Given the description of an element on the screen output the (x, y) to click on. 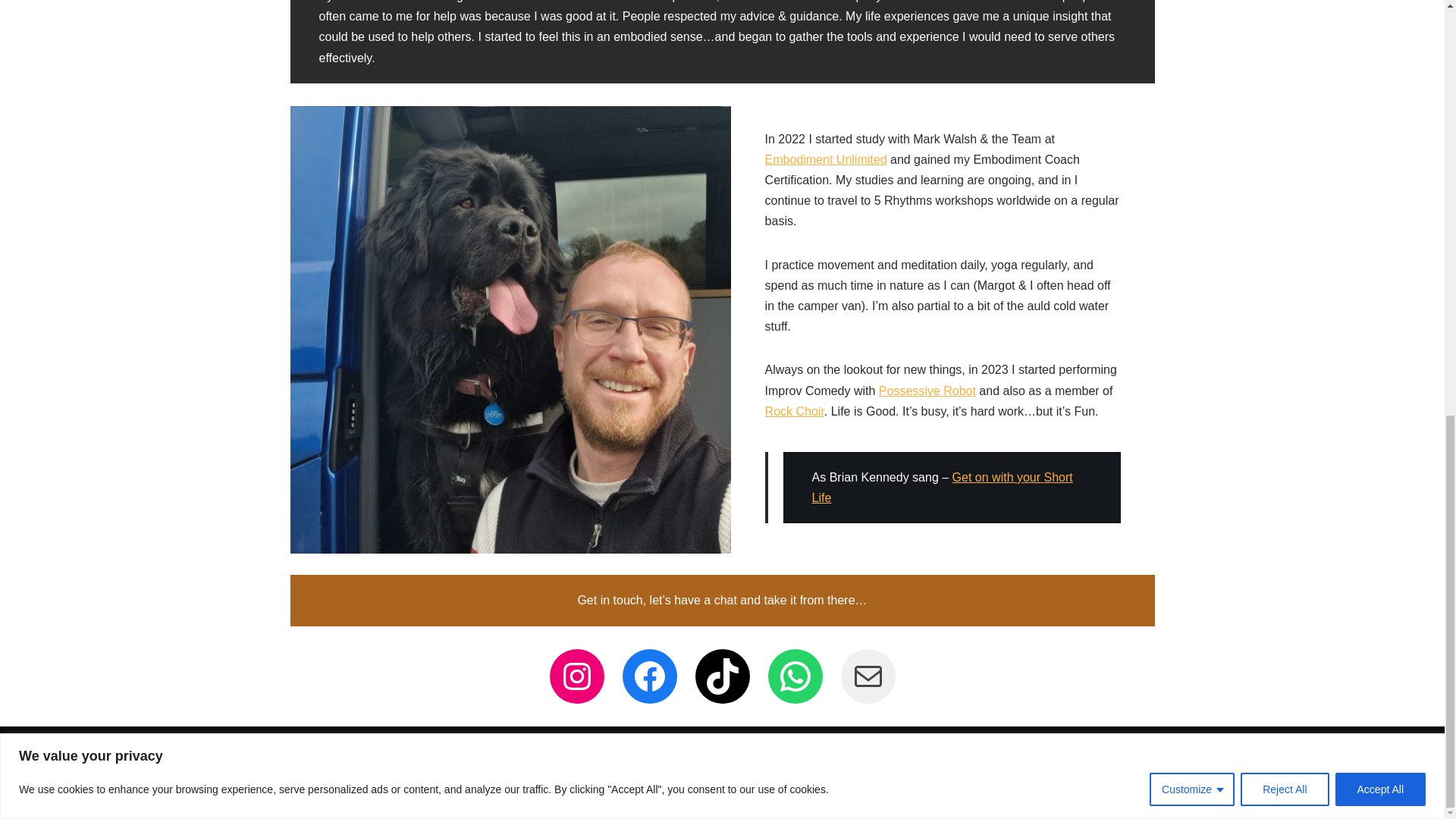
Get on with your Short Life (942, 487)
Rock Choir (794, 410)
Get on with your Short Life (942, 487)
Possessive Robot (927, 390)
Possessive Robot (927, 390)
Embodiment Unlimited (825, 159)
Embodiment Unlimited (825, 159)
Rock Choir (794, 410)
